Given the description of an element on the screen output the (x, y) to click on. 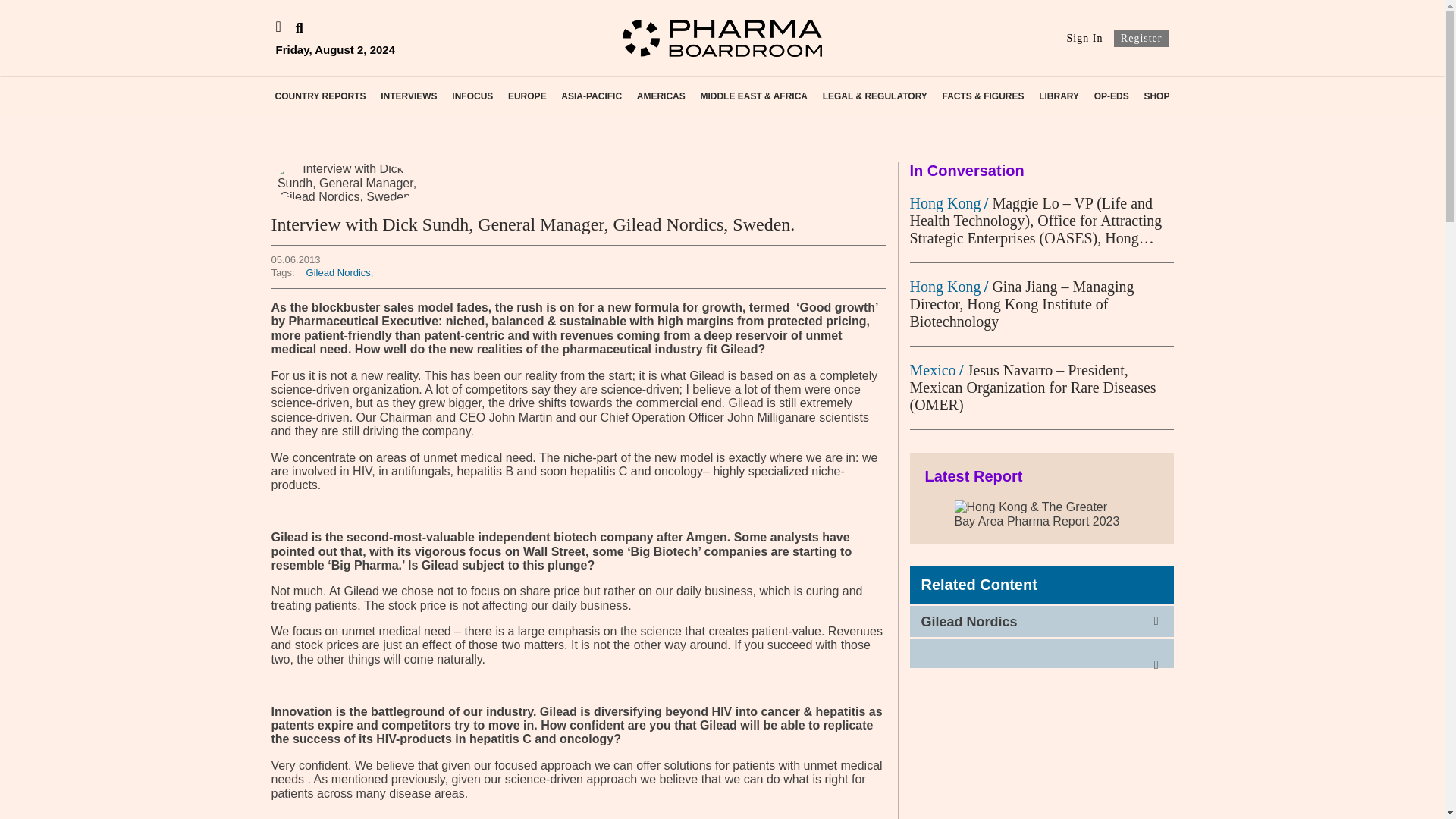
Register (1141, 37)
Sign In (1085, 38)
